Given the description of an element on the screen output the (x, y) to click on. 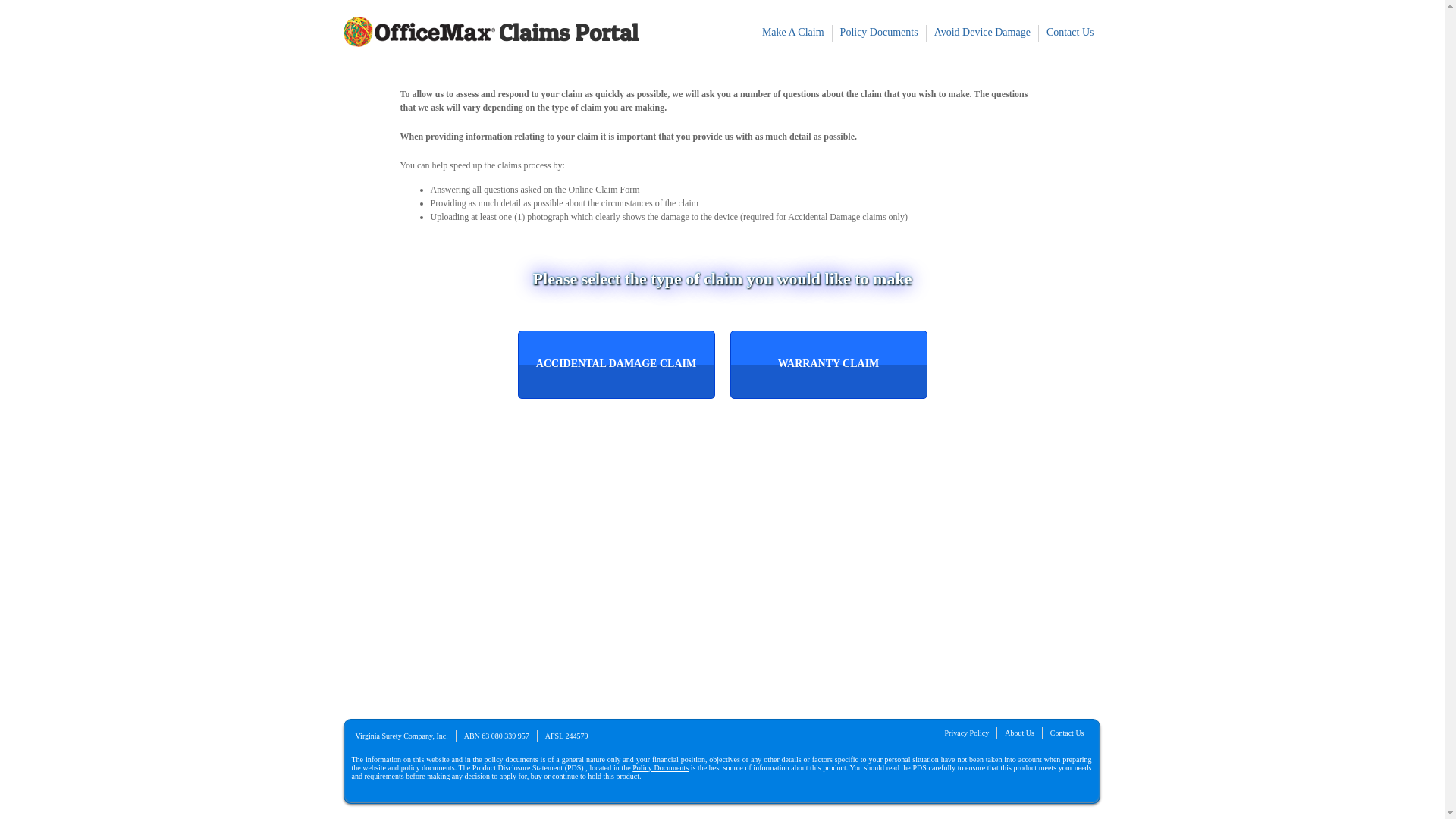
Contact Us Element type: text (1069, 32)
Accidental Damage Claim Element type: text (615, 364)
Avoid Device Damage Element type: text (982, 32)
Privacy Policy Element type: text (966, 732)
Warranty Claim Element type: text (827, 364)
Policy Documents Element type: text (878, 32)
Policy Documents Element type: text (660, 767)
About Us Element type: text (1019, 732)
Make A Claim Element type: text (792, 32)
Contact Us Element type: text (1067, 732)
